Given the description of an element on the screen output the (x, y) to click on. 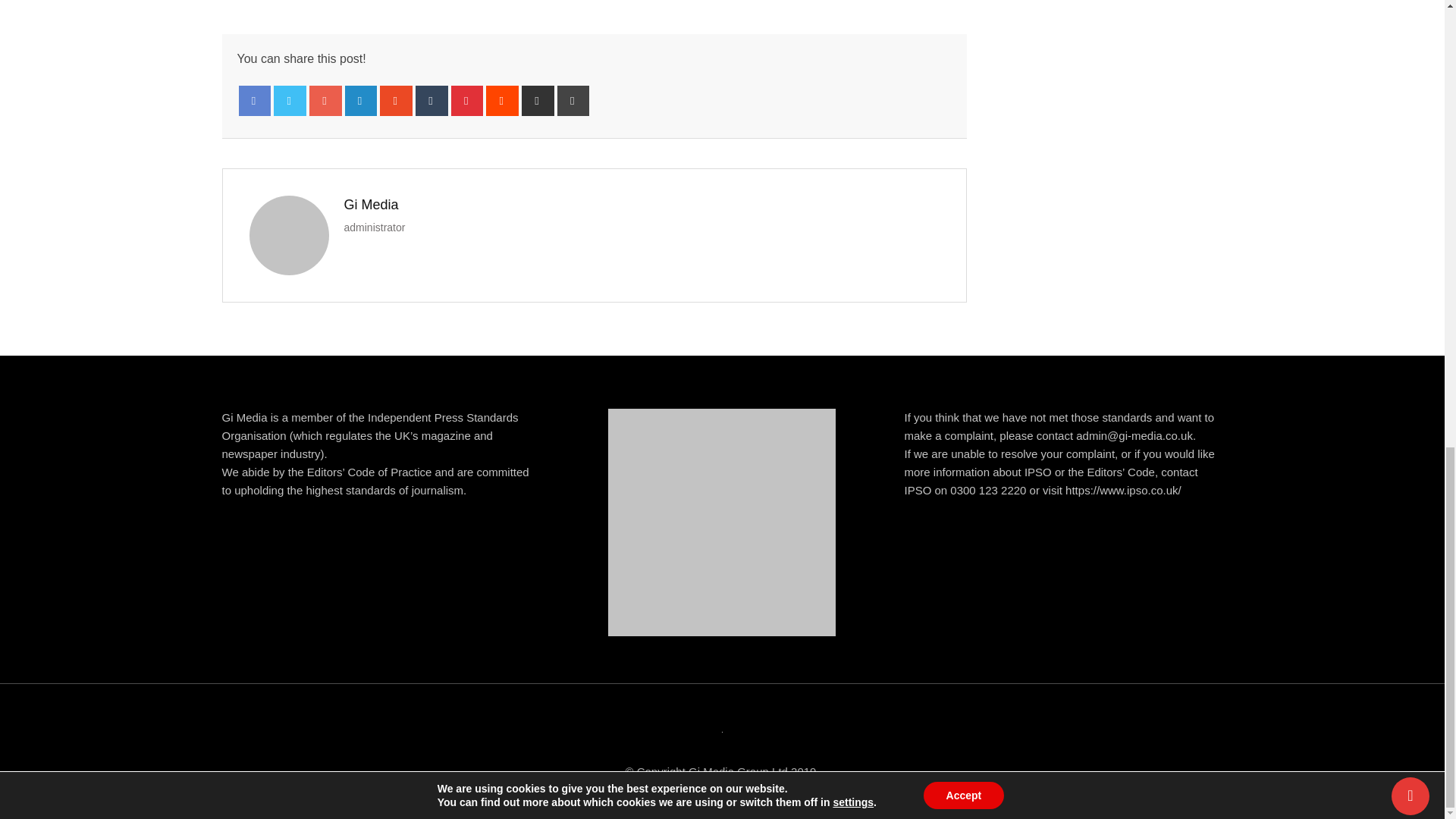
Posts by Gi Media (370, 204)
